Given the description of an element on the screen output the (x, y) to click on. 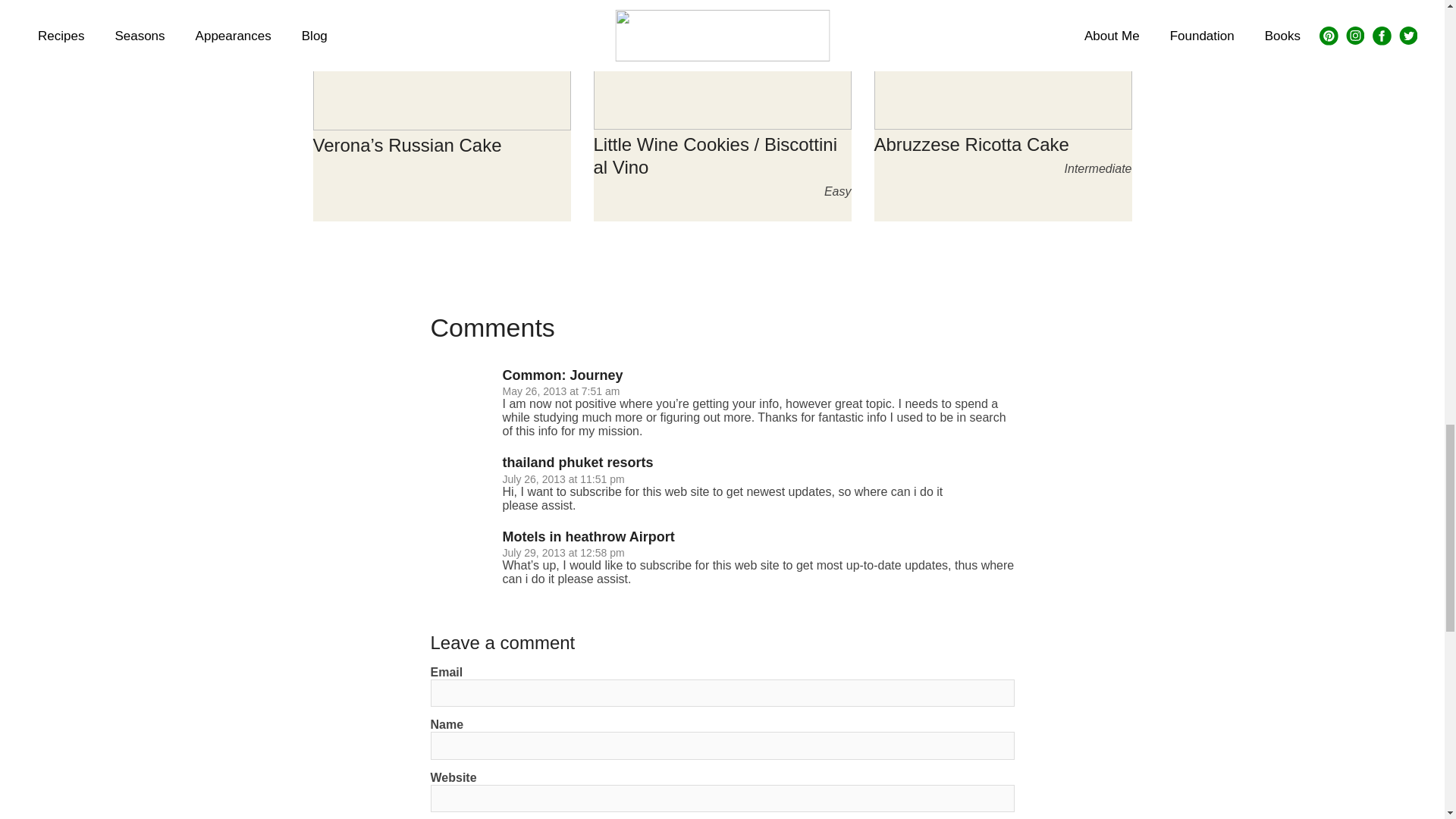
Abruzzese Ricotta Cake (970, 144)
